Given the description of an element on the screen output the (x, y) to click on. 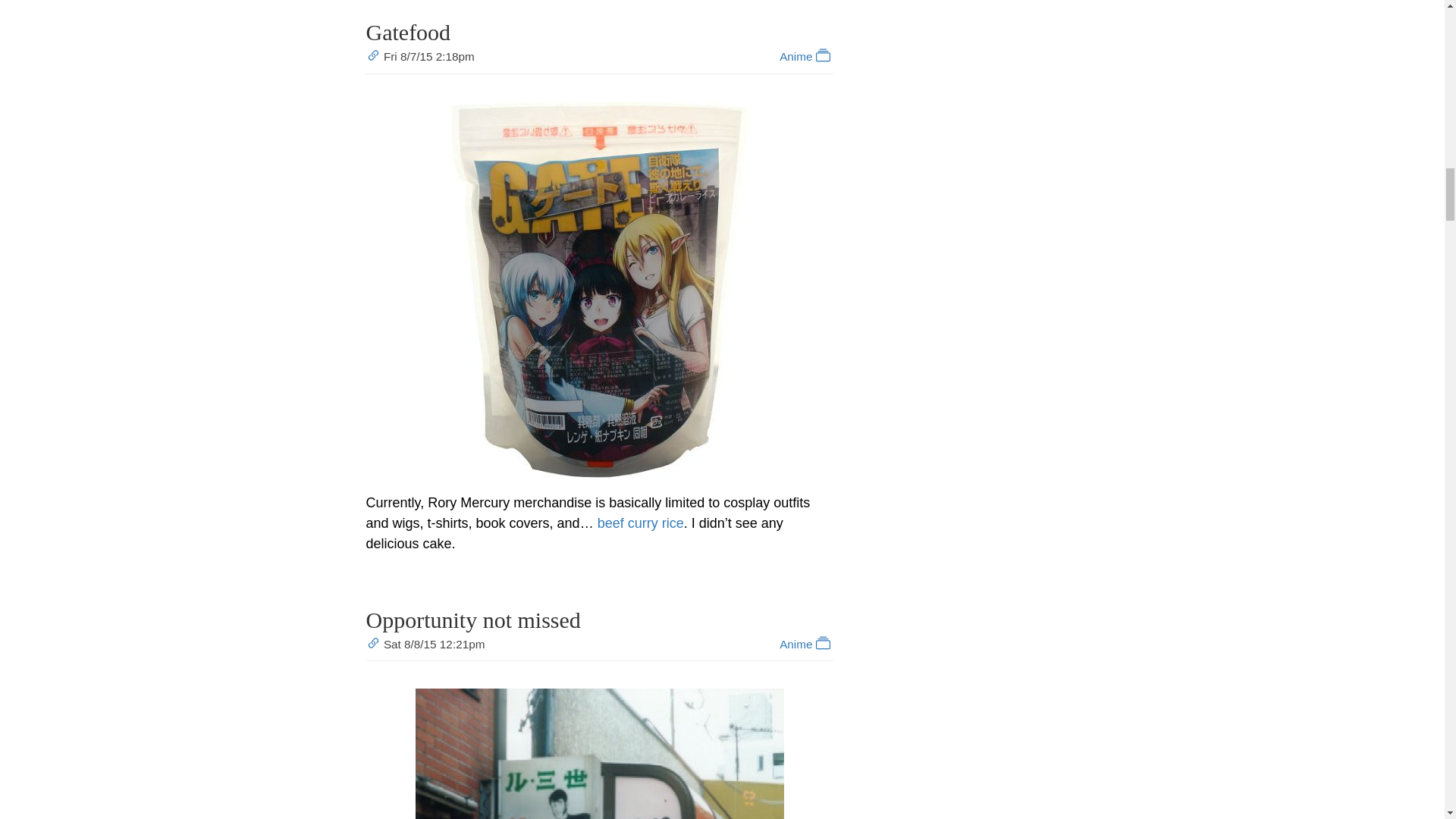
Anime   (805, 644)
beef curry rice (640, 522)
Anime   (805, 56)
